Given the description of an element on the screen output the (x, y) to click on. 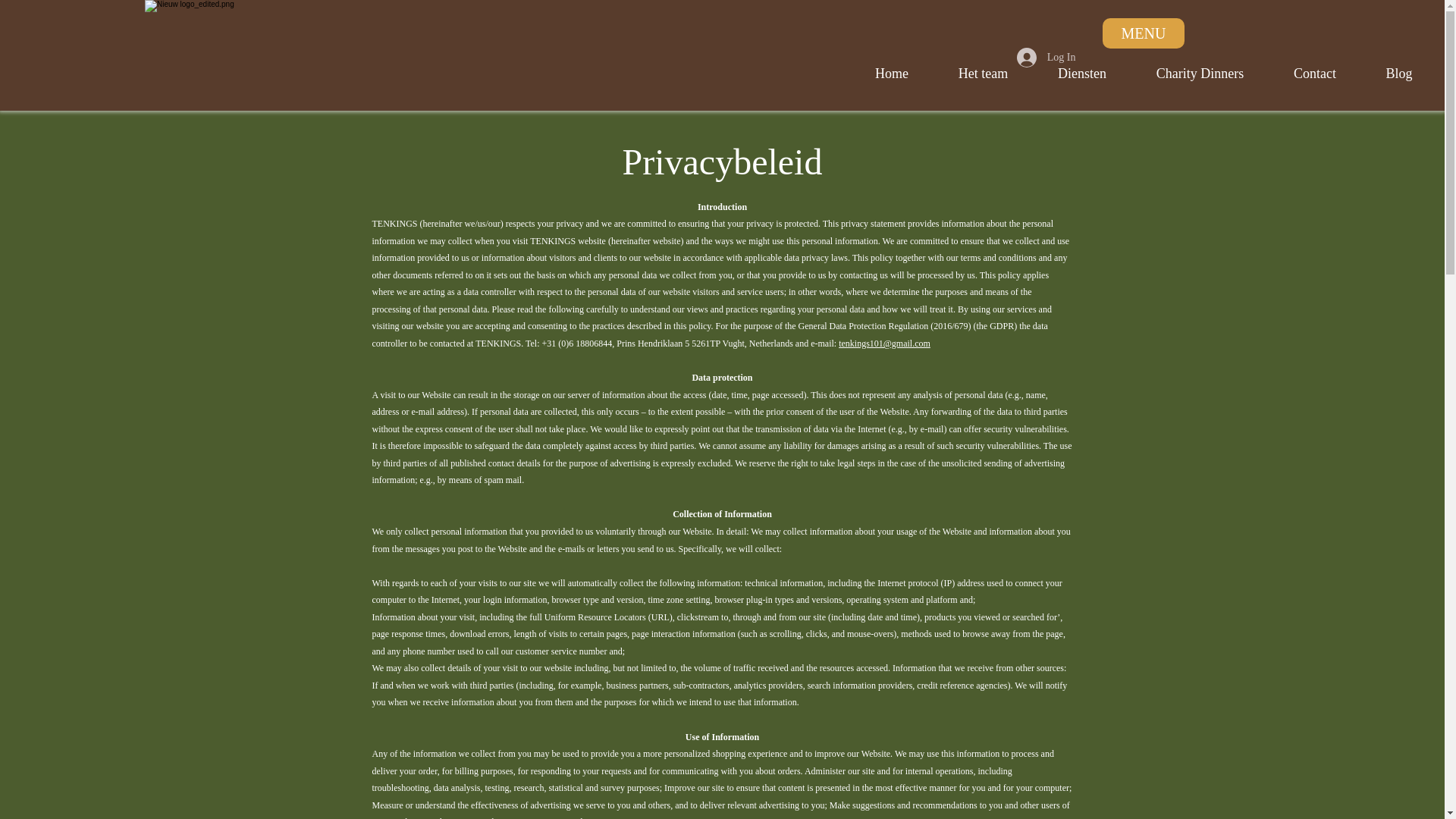
Blog (1399, 73)
Diensten (1081, 73)
MENU (1143, 33)
Log In (1046, 57)
Home (891, 73)
Charity Dinners (1199, 73)
Het team (982, 73)
Contact (1314, 73)
